Given the description of an element on the screen output the (x, y) to click on. 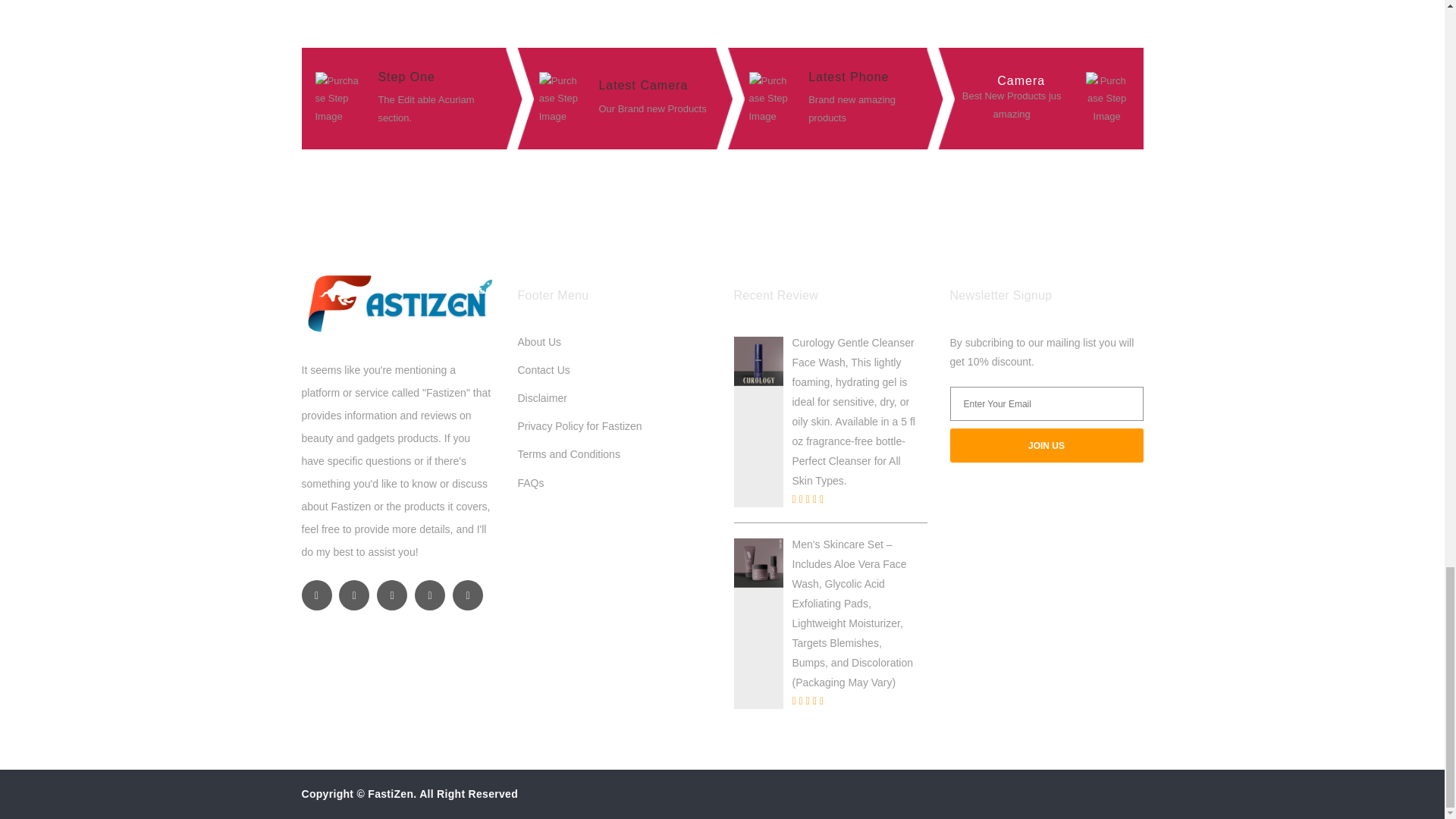
JOIN US (1045, 445)
